Given the description of an element on the screen output the (x, y) to click on. 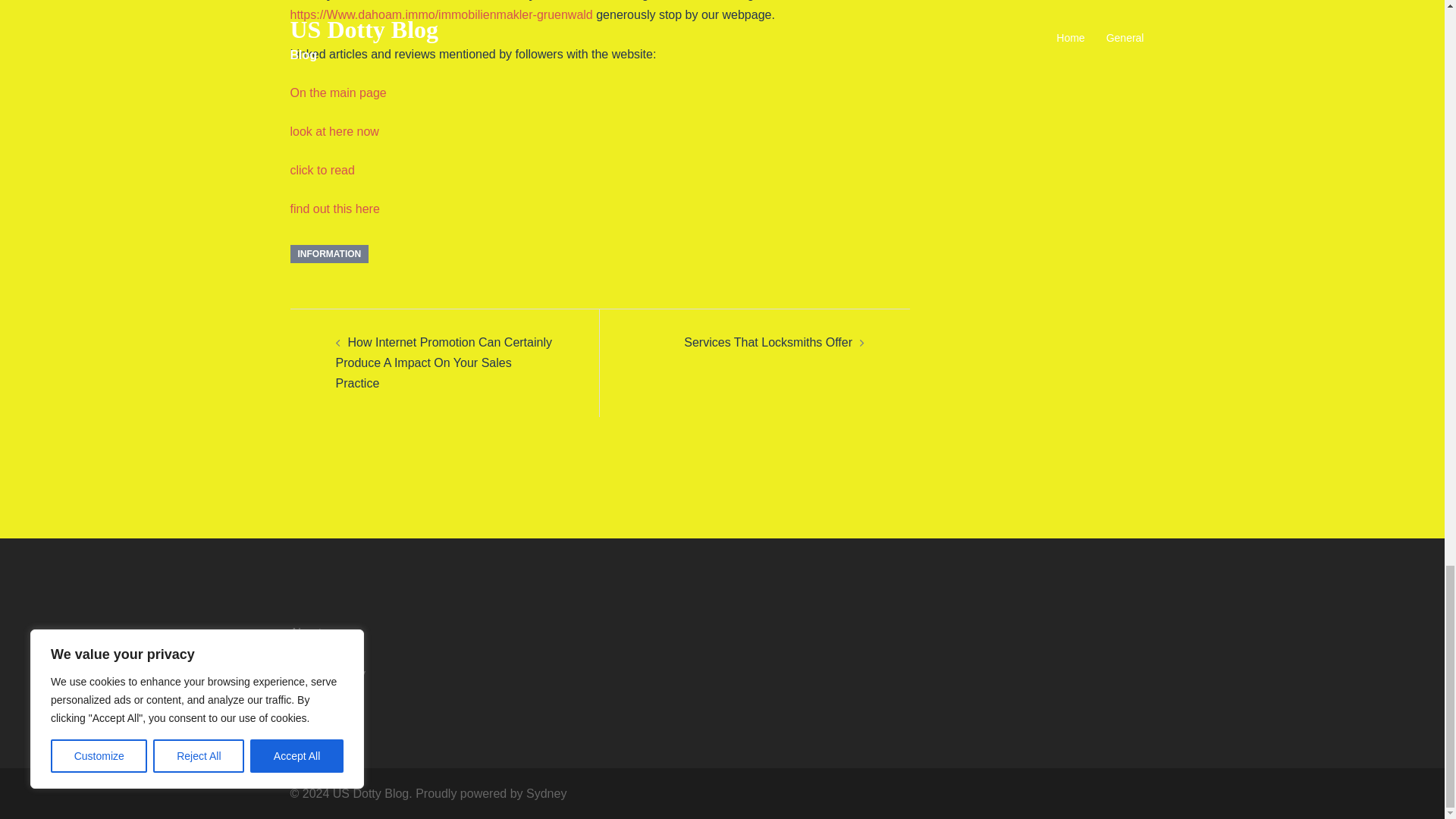
INFORMATION (328, 253)
find out this here (333, 208)
look at here now (333, 131)
On the main page (337, 92)
Services That Locksmiths Offer (767, 341)
click to read (321, 169)
